Given the description of an element on the screen output the (x, y) to click on. 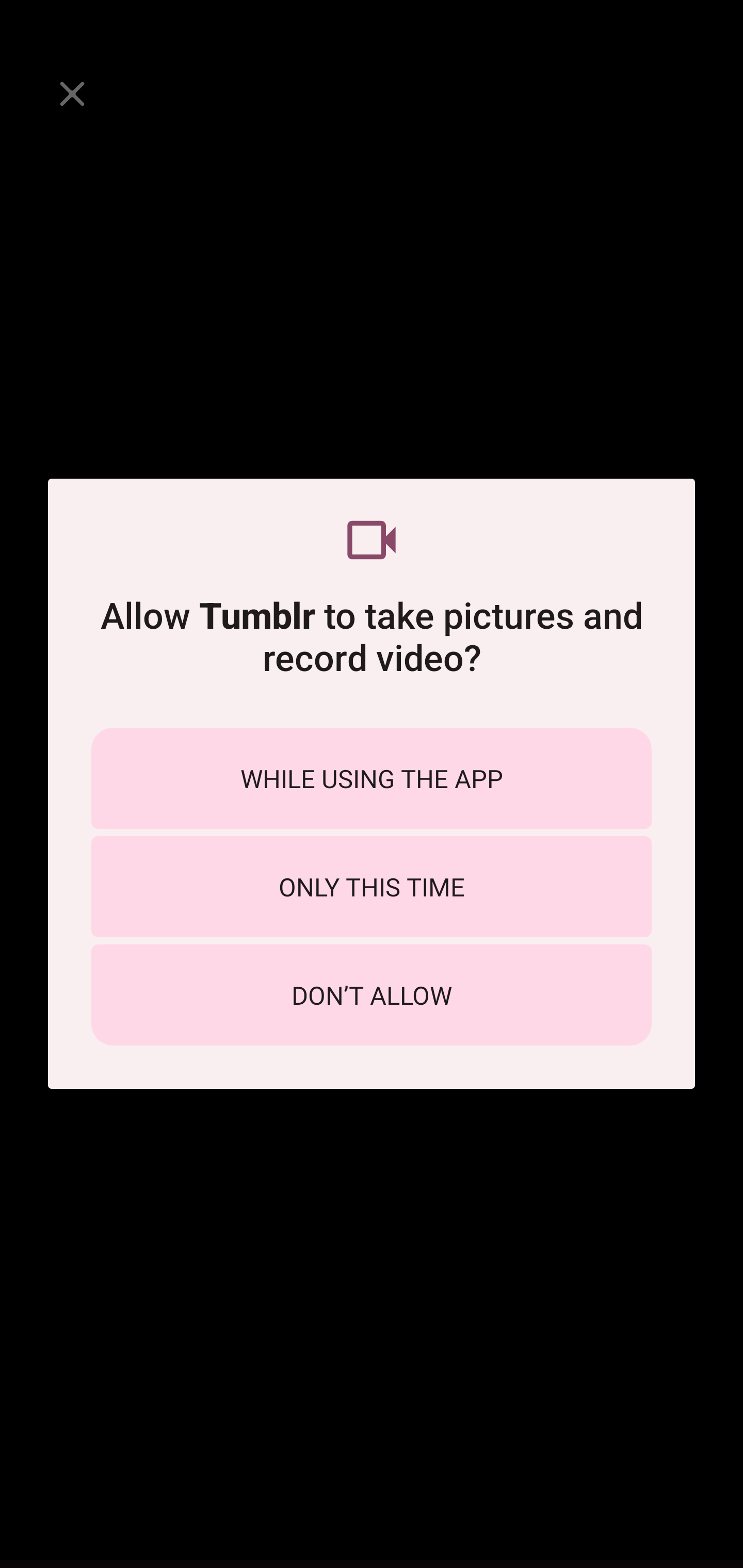
WHILE USING THE APP (371, 778)
ONLY THIS TIME (371, 886)
DON’T ALLOW (371, 994)
